Given the description of an element on the screen output the (x, y) to click on. 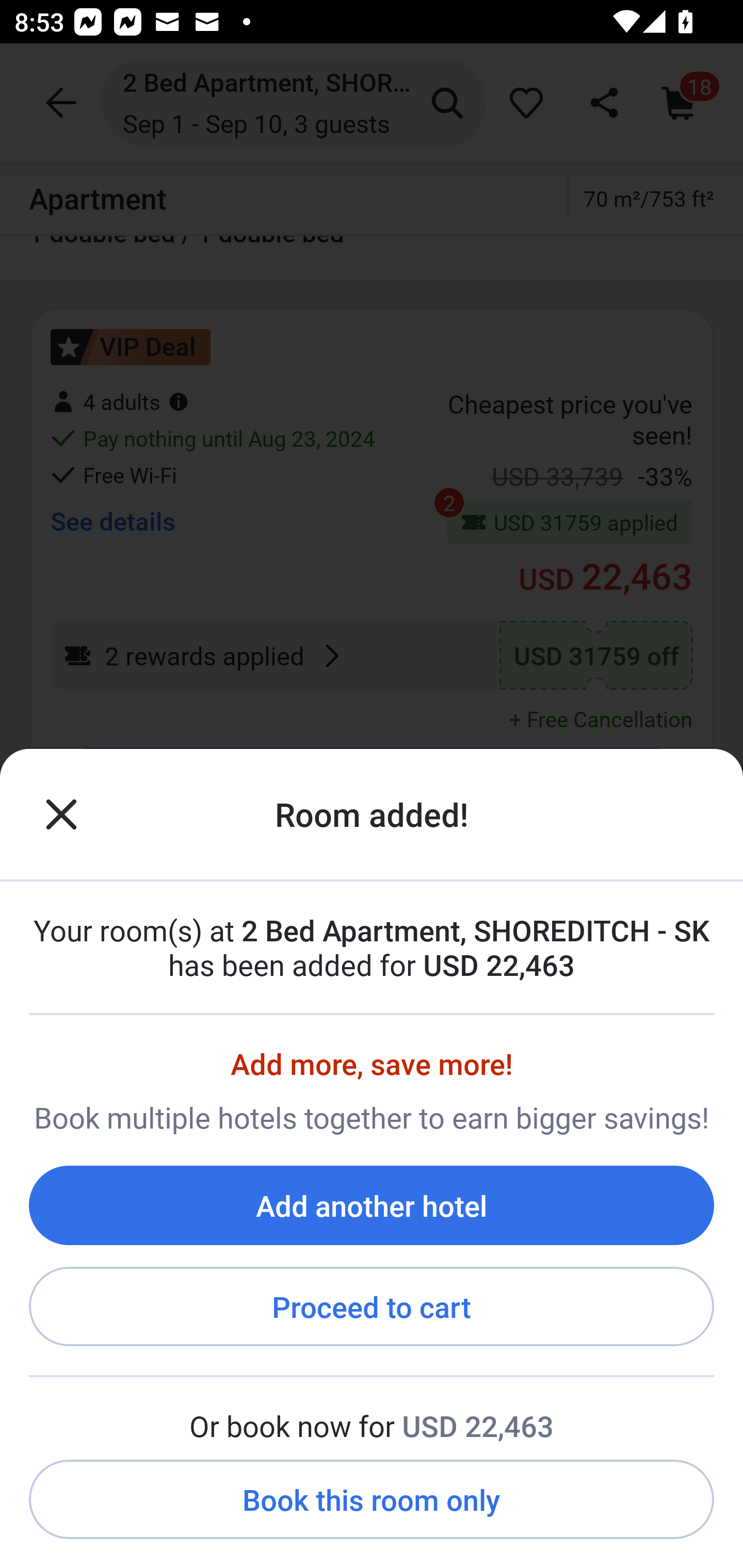
Add another hotel (371, 1204)
Proceed to cart (371, 1306)
Book this room only (371, 1499)
